Given the description of an element on the screen output the (x, y) to click on. 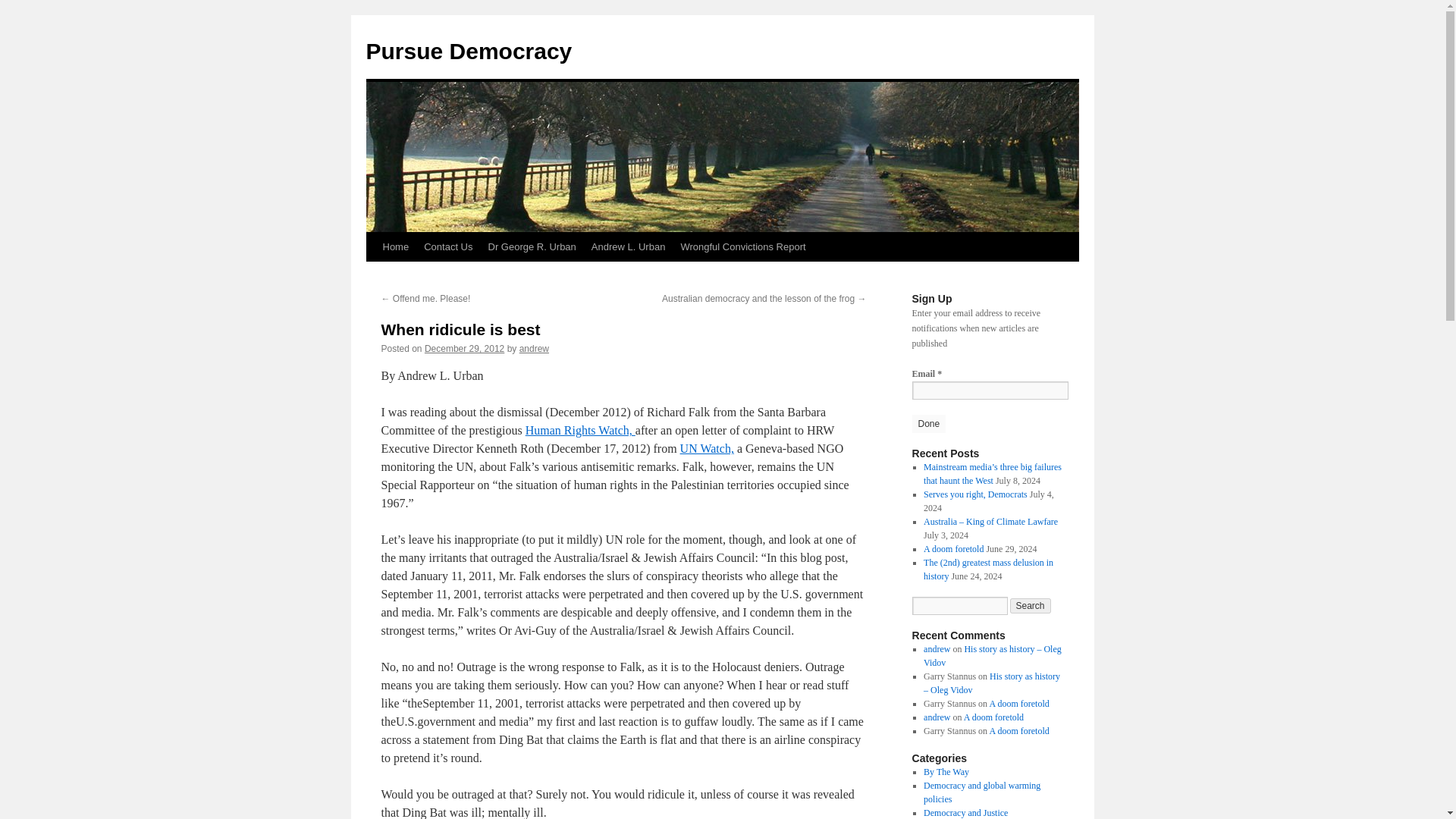
Done (927, 423)
andrew (936, 716)
Serves you right, Democrats (975, 493)
Home (395, 246)
Search (1030, 605)
A doom foretold (953, 548)
Human Rights Watch, (579, 430)
A doom foretold (993, 716)
Andrew L. Urban (627, 246)
By The Way (946, 771)
andrew (533, 348)
Wrongful Convictions Report (742, 246)
December 29, 2012 (464, 348)
A doom foretold (1018, 730)
Democracy and global warming policies (982, 792)
